Given the description of an element on the screen output the (x, y) to click on. 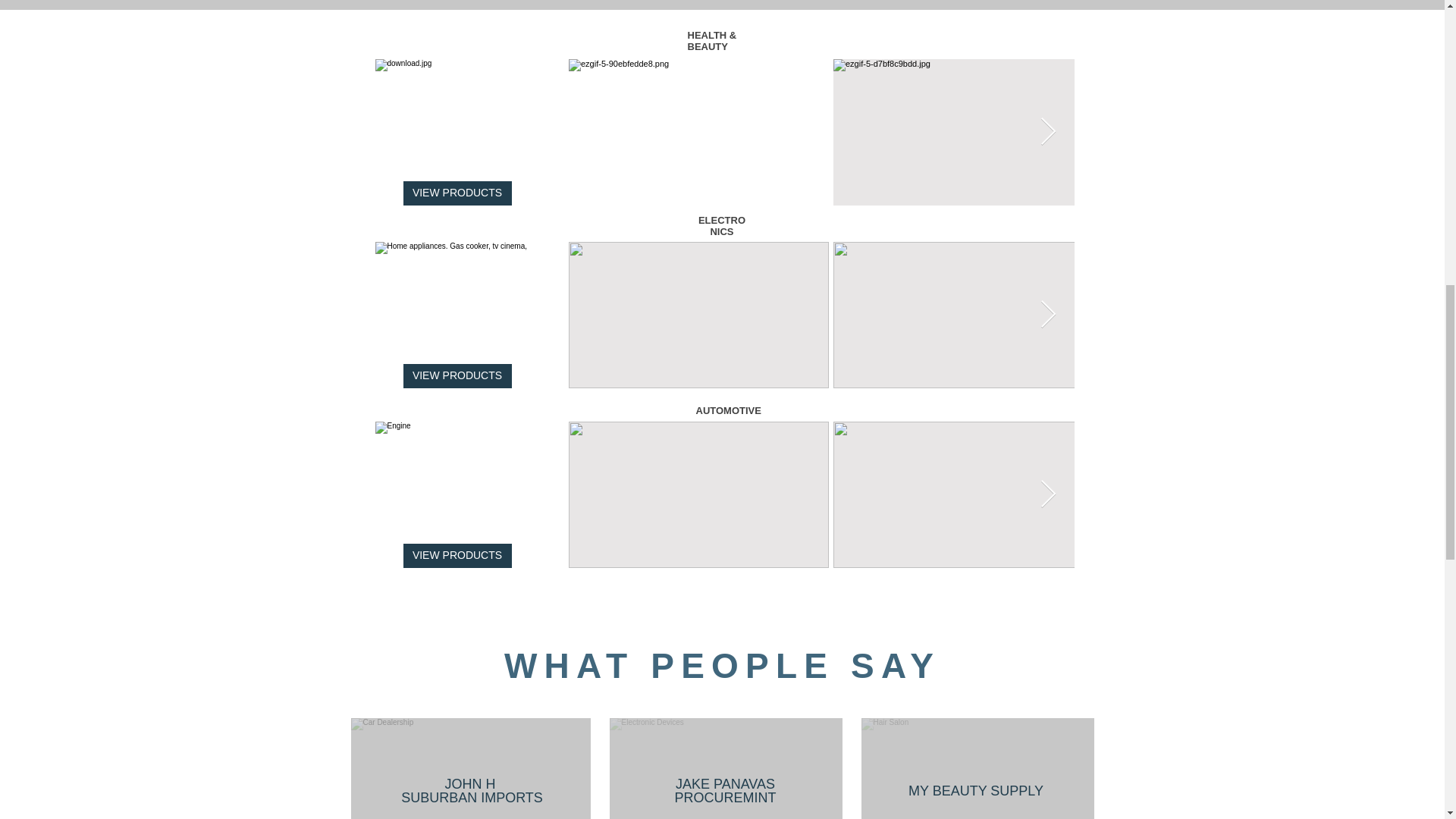
VIEW PRODUCTS (457, 555)
ELECTRONICS (721, 225)
VIEW PRODUCTS (457, 375)
AUTOMOTIVE (728, 410)
VIEW PRODUCTS (457, 192)
